Given the description of an element on the screen output the (x, y) to click on. 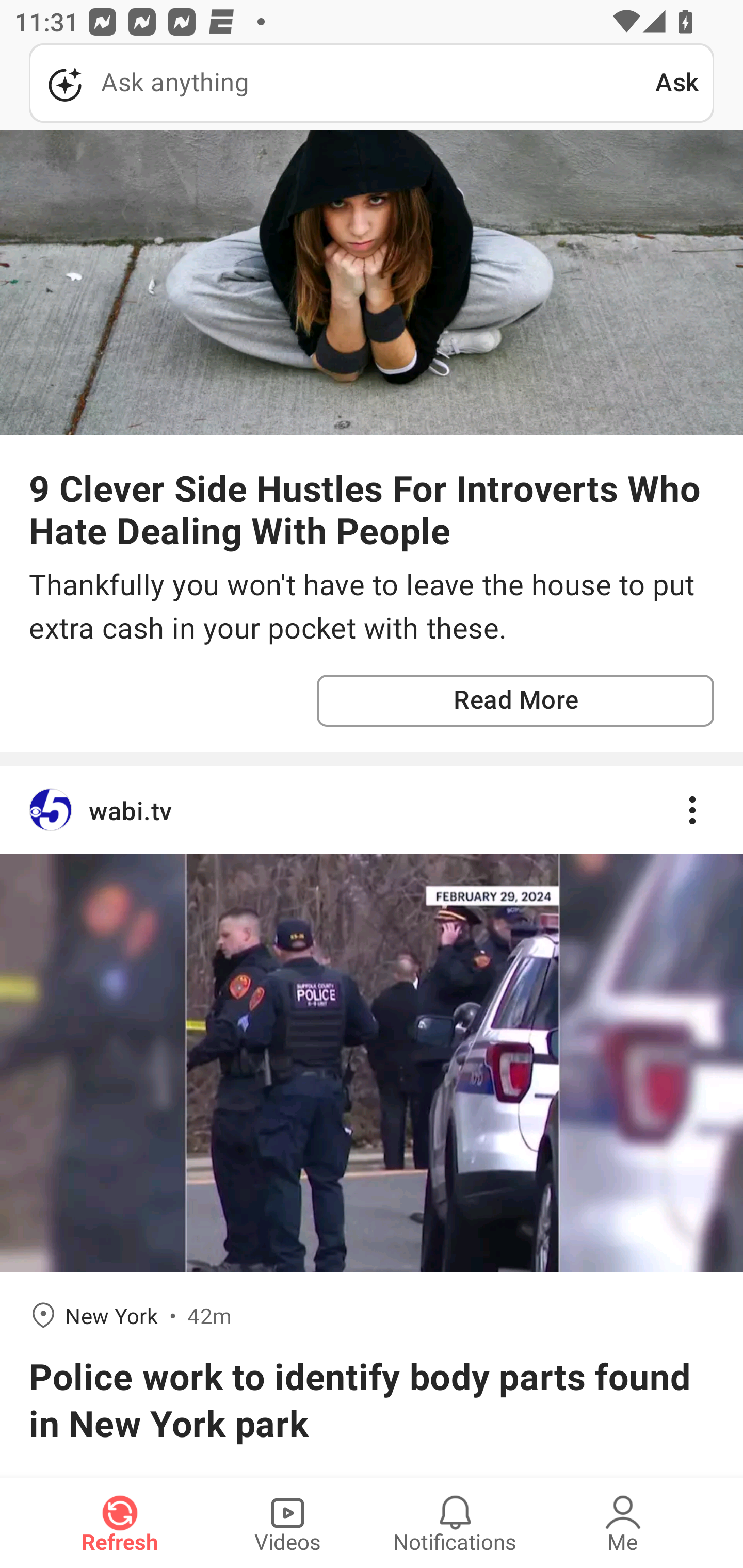
Ask anything (341, 82)
Read More (515, 699)
wabi.tv (371, 810)
Videos (287, 1522)
Notifications (455, 1522)
Me (622, 1522)
